Given the description of an element on the screen output the (x, y) to click on. 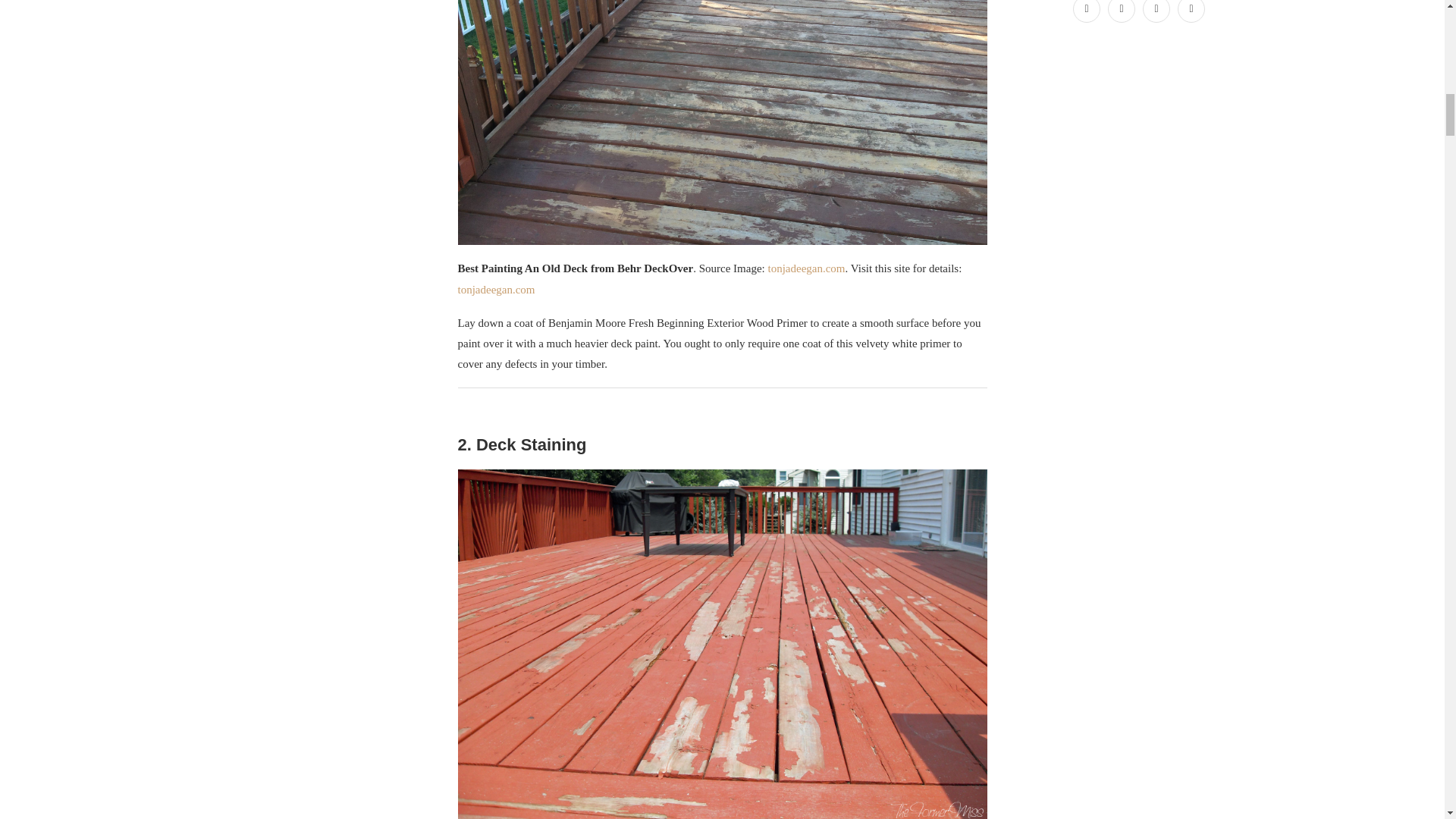
behr deckover (722, 122)
